Given the description of an element on the screen output the (x, y) to click on. 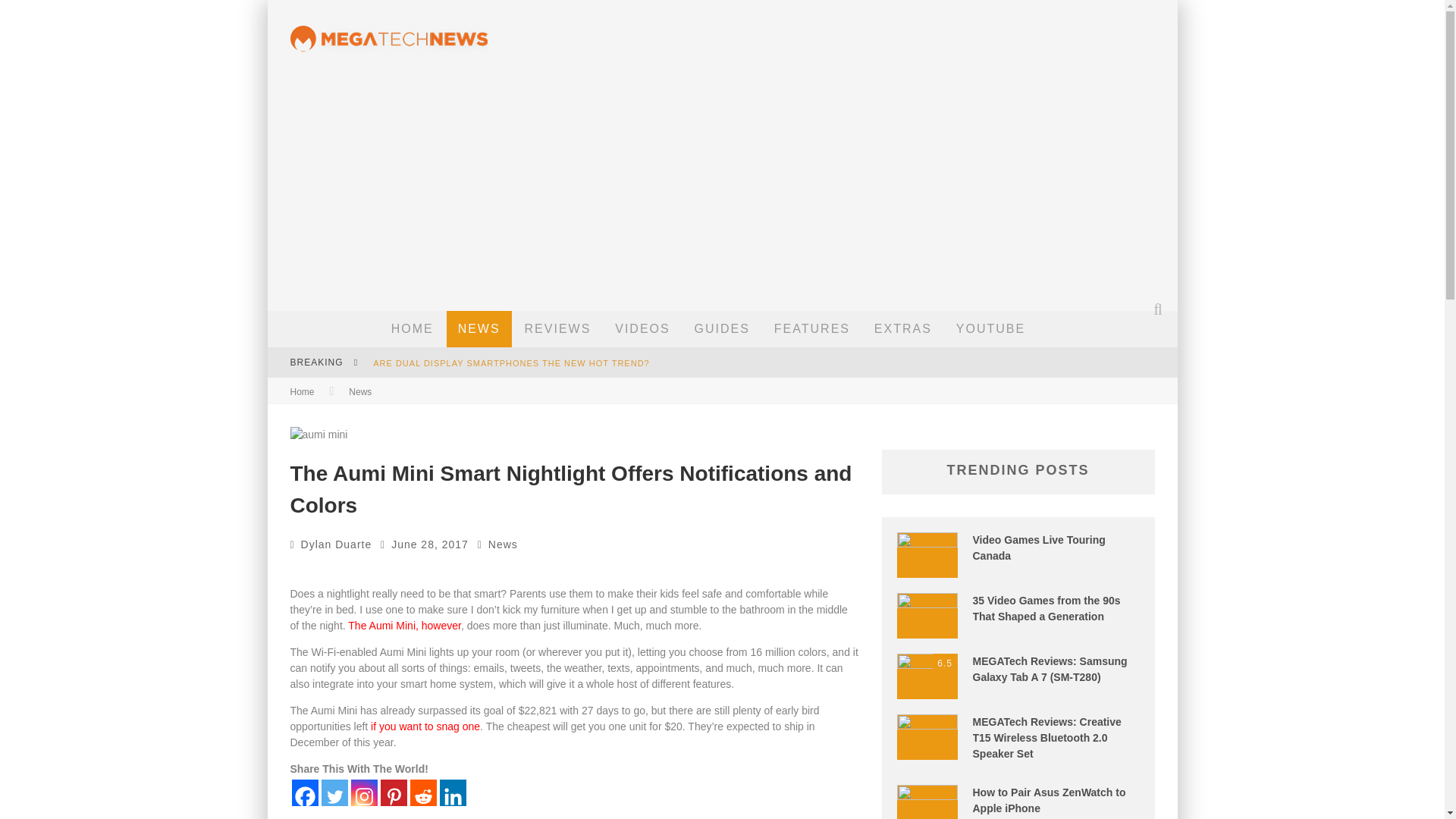
HOME (412, 329)
Instagram (363, 792)
REVIEWS (557, 329)
View all posts in News (360, 391)
View all posts in News (502, 544)
Pinterest (393, 792)
Twitter (334, 792)
NEWS (479, 329)
VIDEOS (642, 329)
Facebook (304, 792)
